Given the description of an element on the screen output the (x, y) to click on. 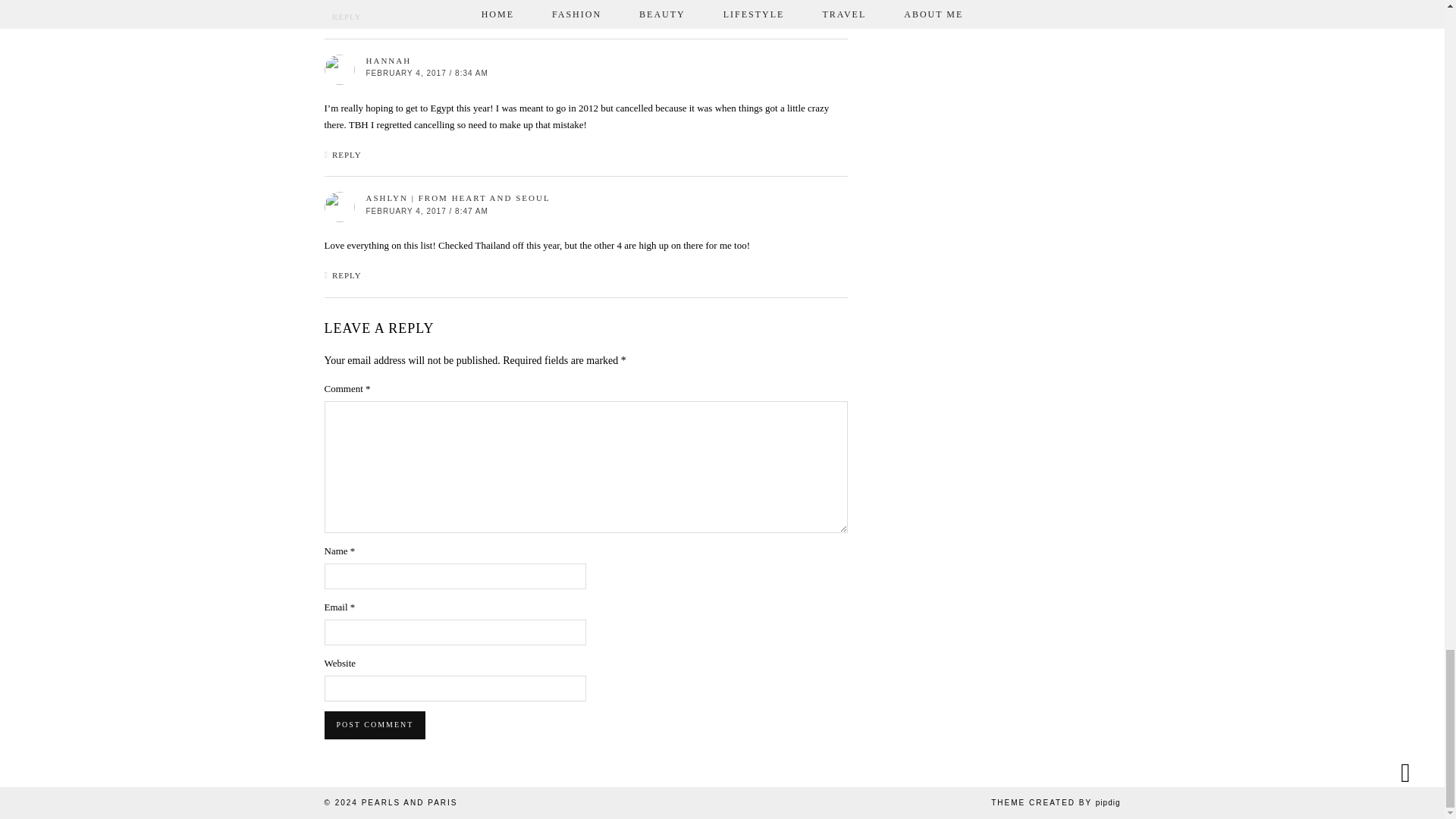
Post Comment (375, 724)
